Given the description of an element on the screen output the (x, y) to click on. 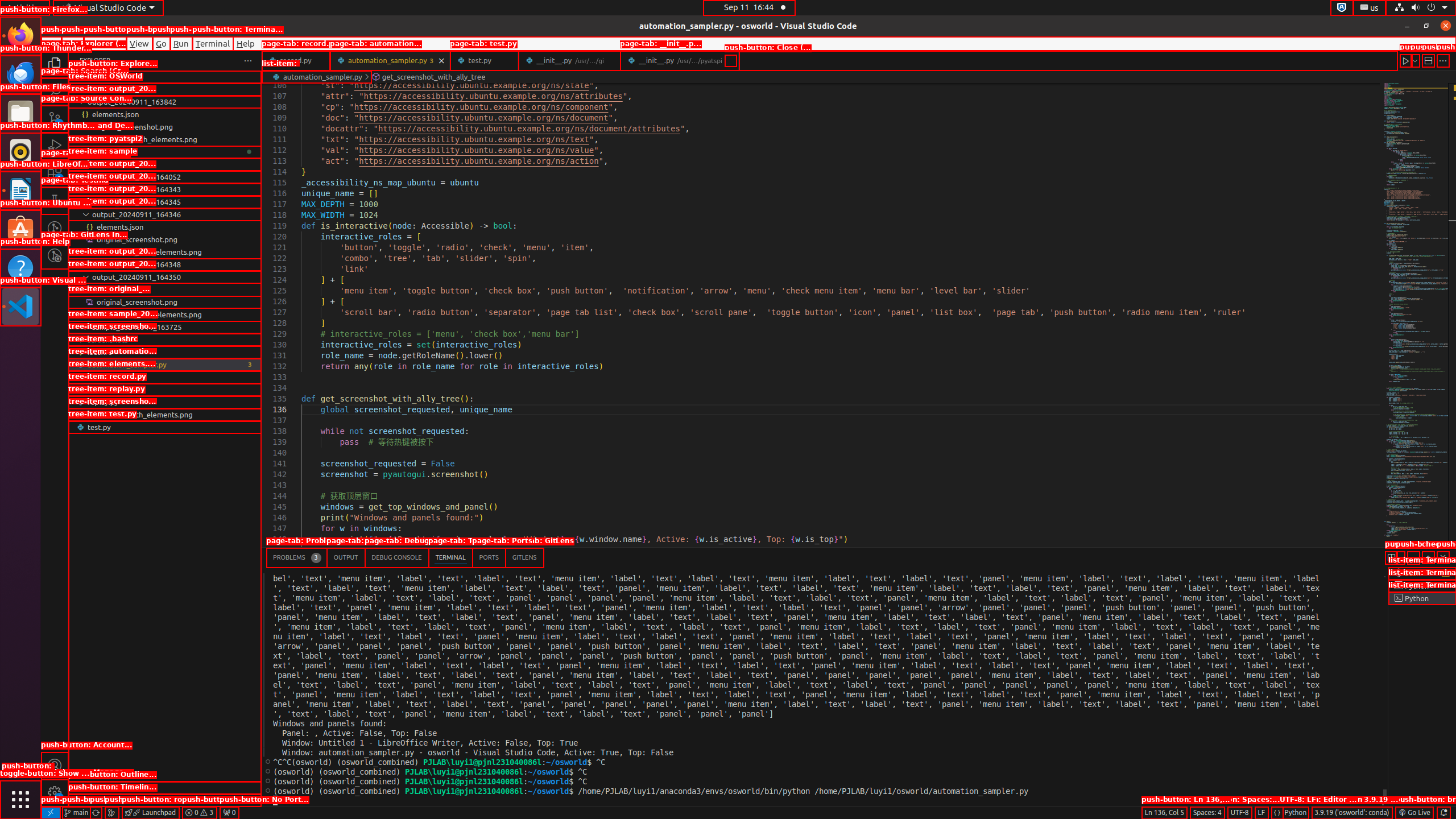
output_20240911_164348 Element type: tree-item (164, 264)
record.py Element type: tree-item (164, 389)
Hide Panel Element type: push-button (1442, 557)
Terminal (Ctrl+`) Element type: page-tab (450, 557)
Spaces: 4 Element type: push-button (1206, 812)
